Given the description of an element on the screen output the (x, y) to click on. 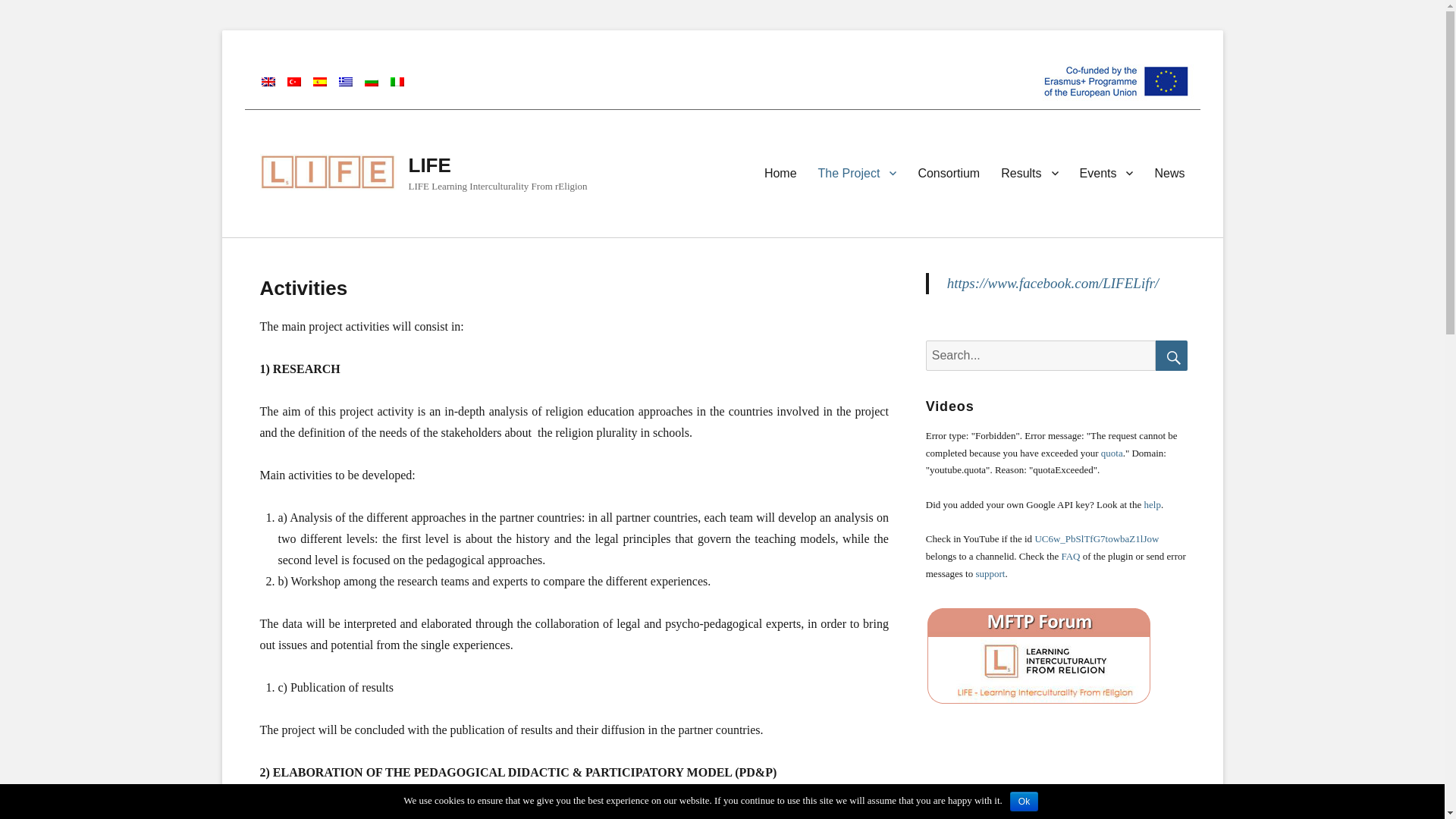
LIFE (428, 164)
Results (1029, 173)
Events (1106, 173)
The Project (857, 173)
Search for: (1041, 355)
News (1168, 173)
Home (781, 173)
Consortium (948, 173)
